Given the description of an element on the screen output the (x, y) to click on. 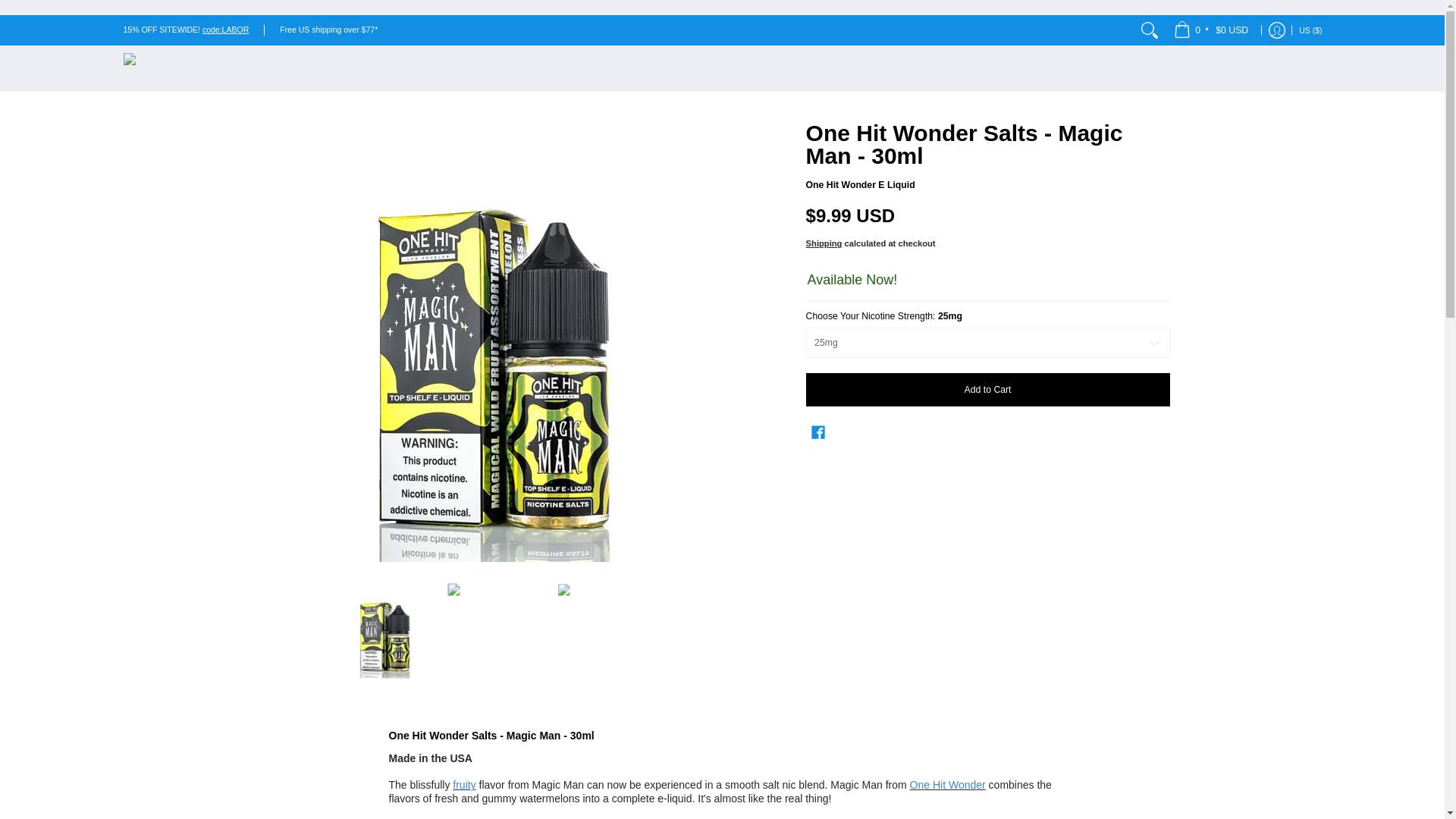
What's New (225, 29)
VaporDNA (186, 67)
Cart (1211, 30)
code:LABOR (225, 29)
BG (1153, 17)
BF (1163, 47)
Log in (1277, 30)
